Given the description of an element on the screen output the (x, y) to click on. 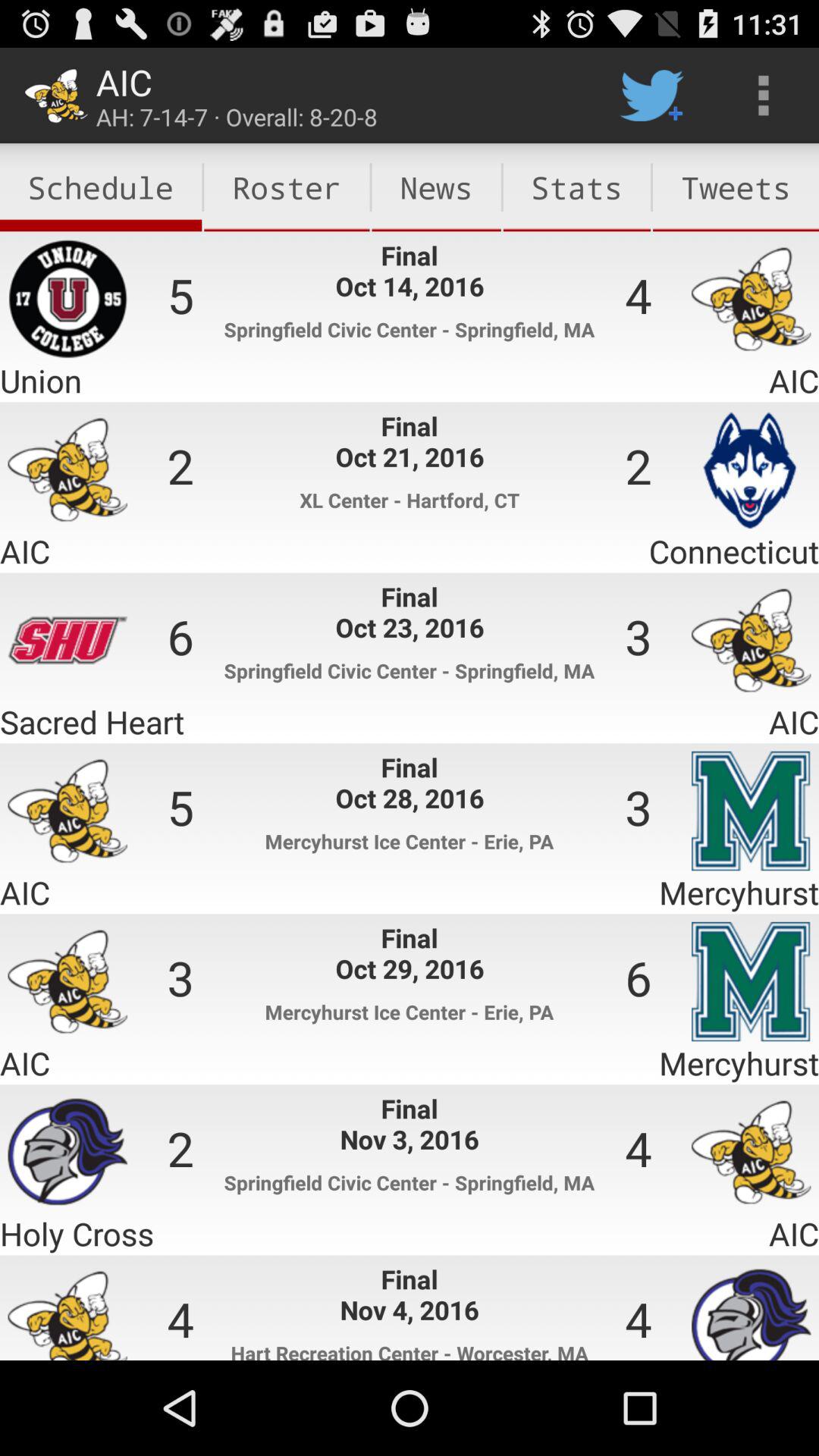
turn on news item (436, 187)
